Given the description of an element on the screen output the (x, y) to click on. 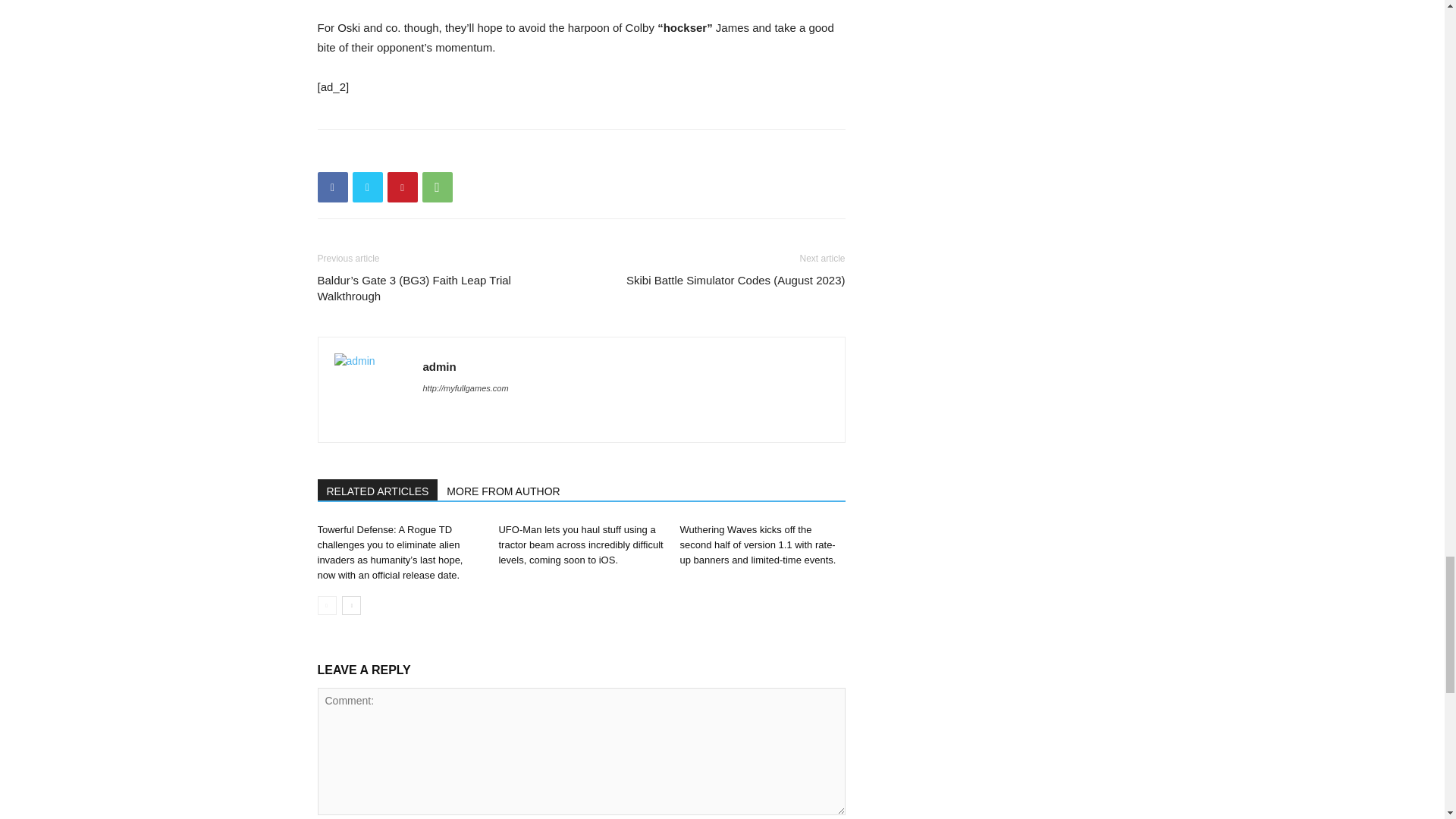
bottomFacebookLike (430, 153)
Twitter (366, 186)
Facebook (332, 186)
